Given the description of an element on the screen output the (x, y) to click on. 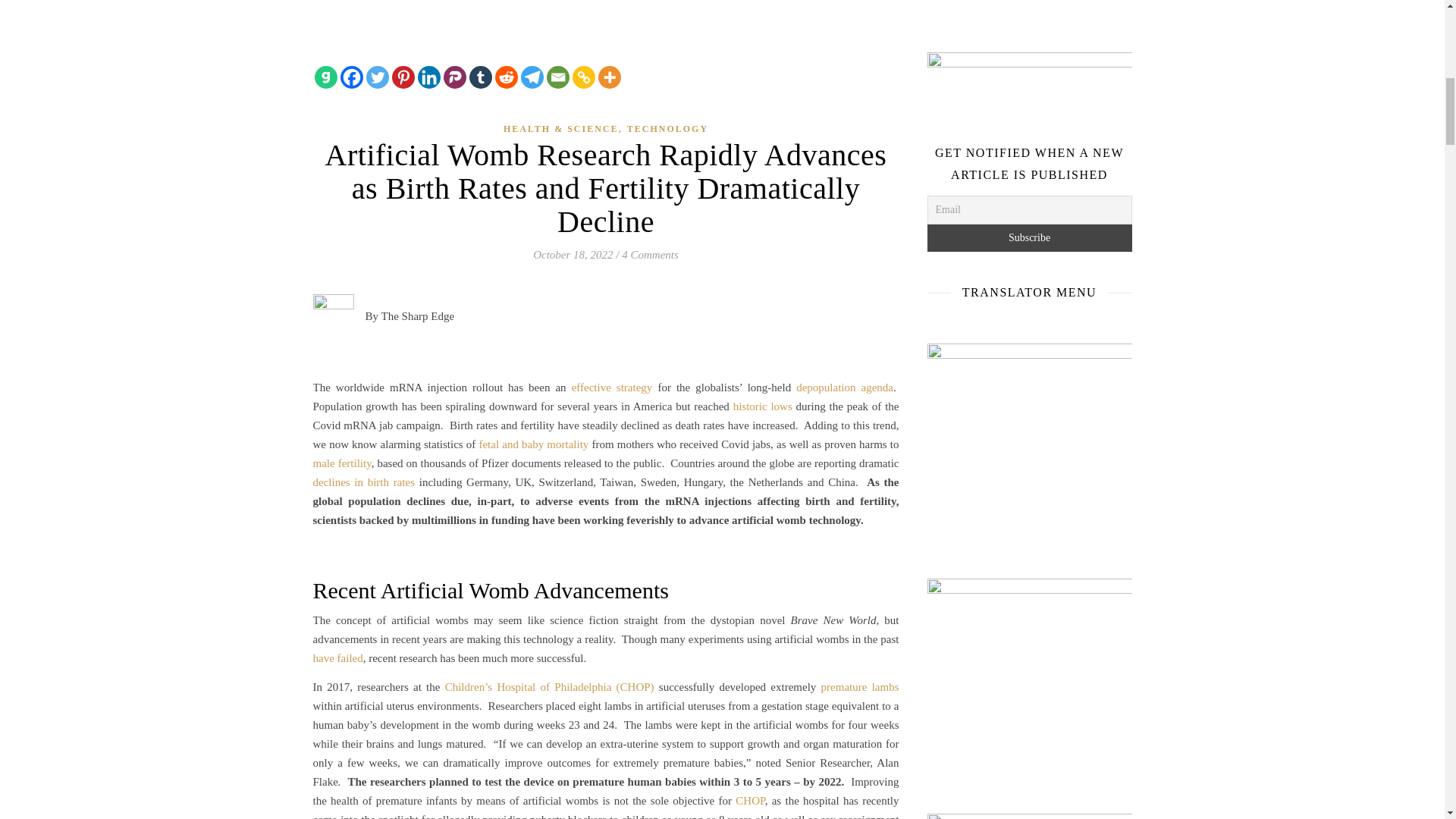
Reddit (505, 77)
Facebook (350, 77)
Parler (453, 77)
Twitter (376, 77)
More (608, 77)
Linkedin (427, 77)
Pinterest (402, 77)
Telegram (531, 77)
Copy Link (583, 77)
Email (557, 77)
